Given the description of an element on the screen output the (x, y) to click on. 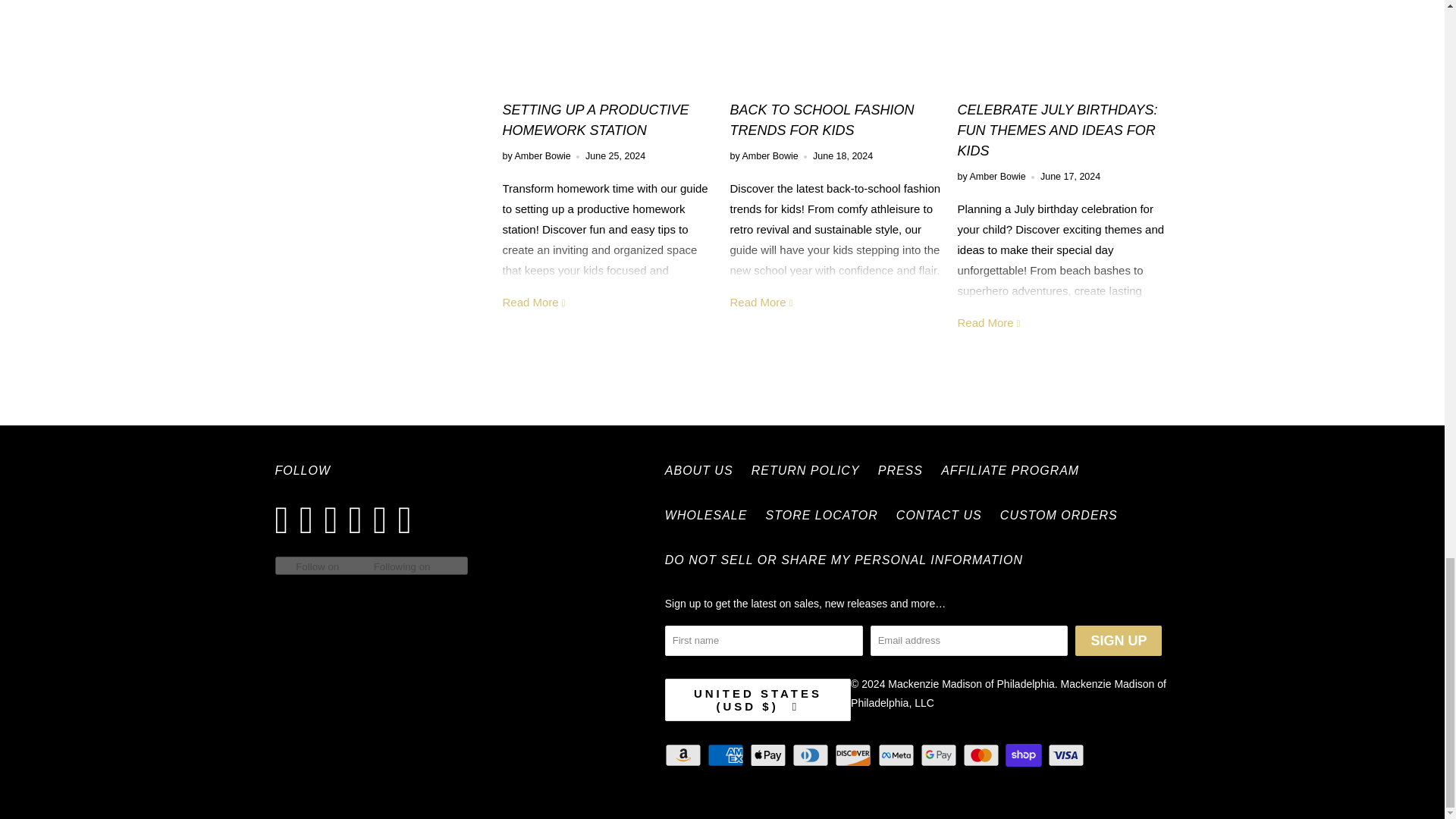
Amazon (684, 754)
Google Pay (939, 754)
Apple Pay (769, 754)
Sign Up (1118, 640)
Shop Pay (1025, 754)
American Express (726, 754)
Visa (1067, 754)
Meta Pay (897, 754)
Discover (854, 754)
Diners Club (811, 754)
